Given the description of an element on the screen output the (x, y) to click on. 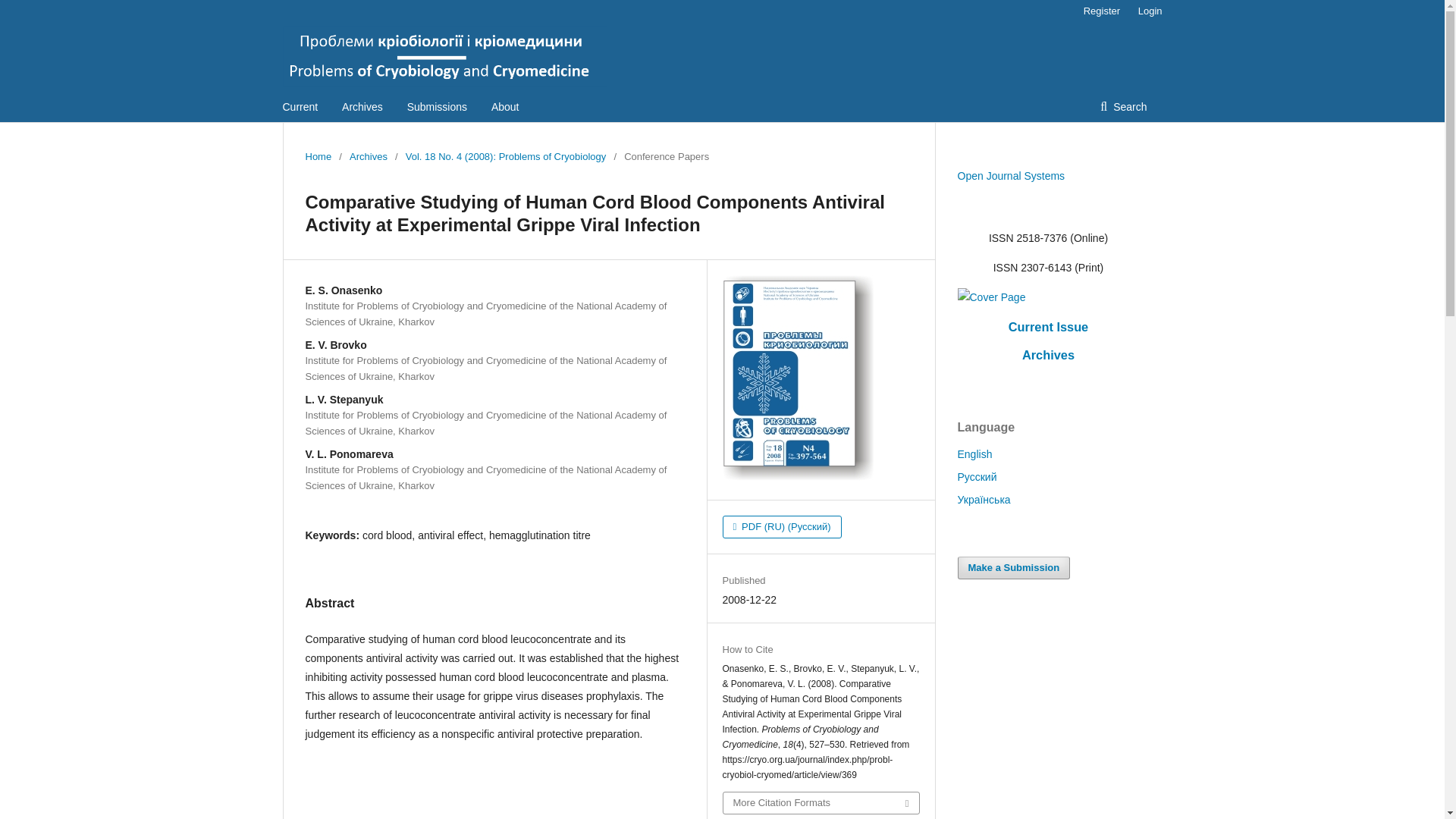
About (505, 106)
Search (1122, 106)
Archives (368, 156)
Archives (362, 106)
Login (1146, 11)
Register (1100, 11)
Submissions (437, 106)
Current (299, 106)
Home (317, 156)
More Citation Formats (820, 803)
